Given the description of an element on the screen output the (x, y) to click on. 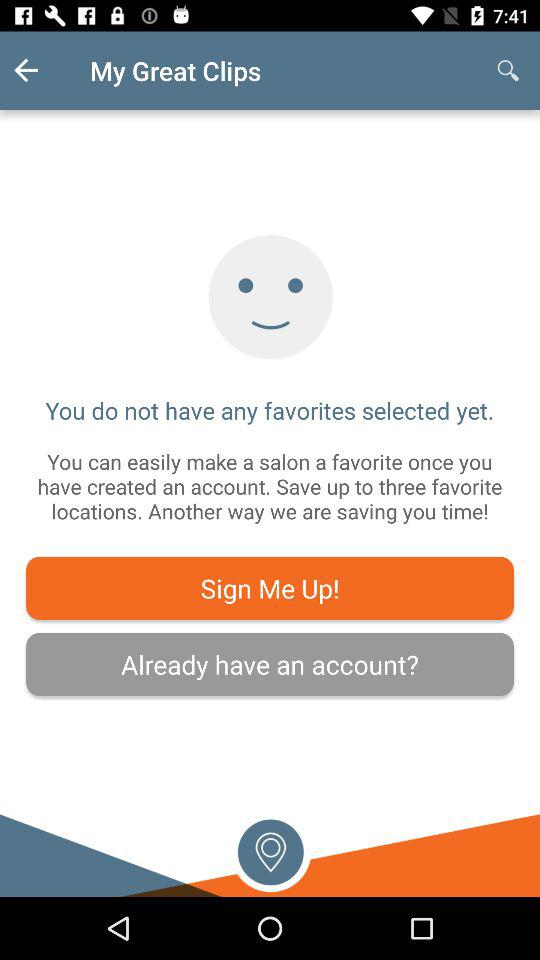
select icon next to my great clips (42, 70)
